Given the description of an element on the screen output the (x, y) to click on. 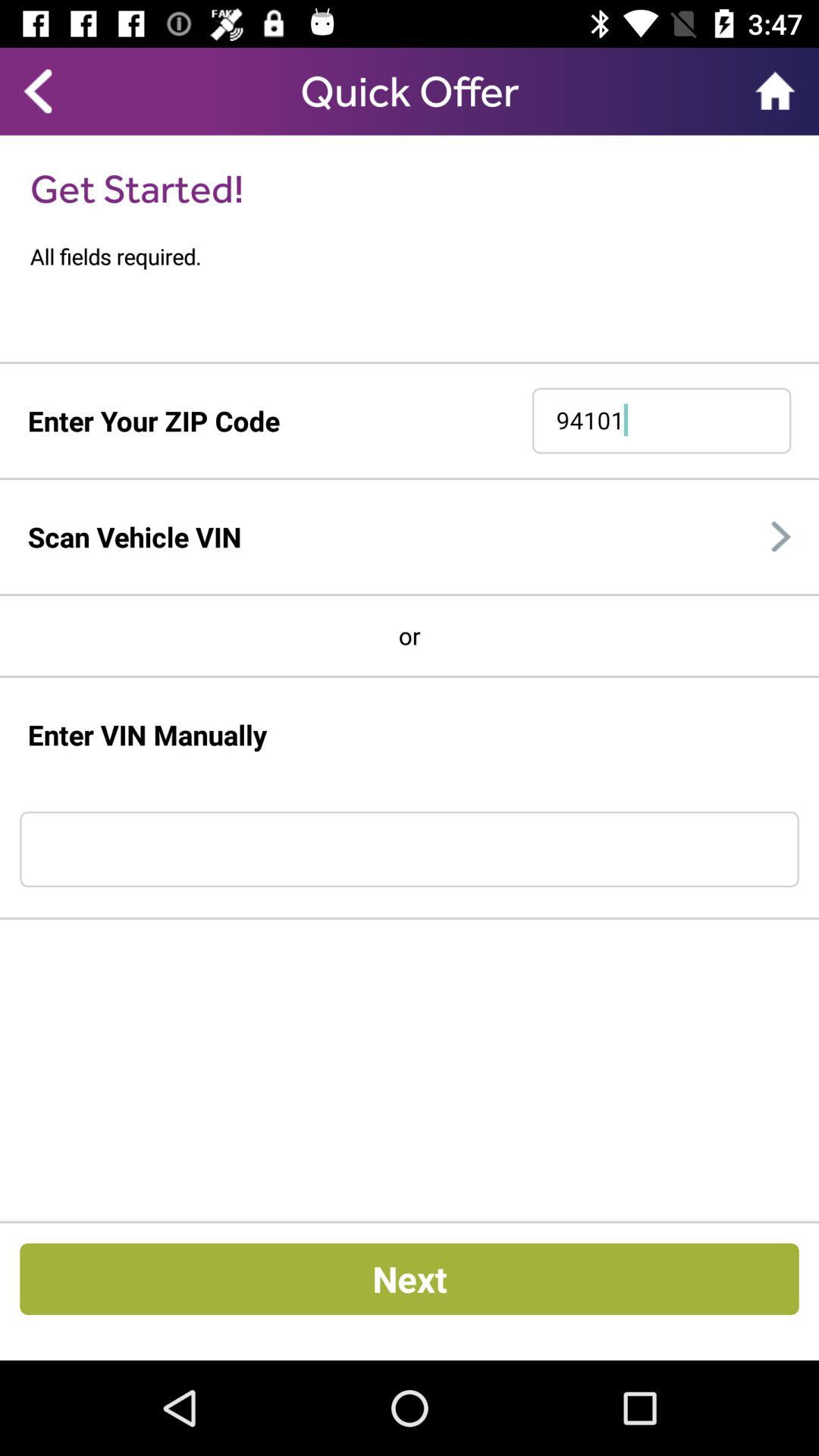
swipe to the get started! item (136, 188)
